Given the description of an element on the screen output the (x, y) to click on. 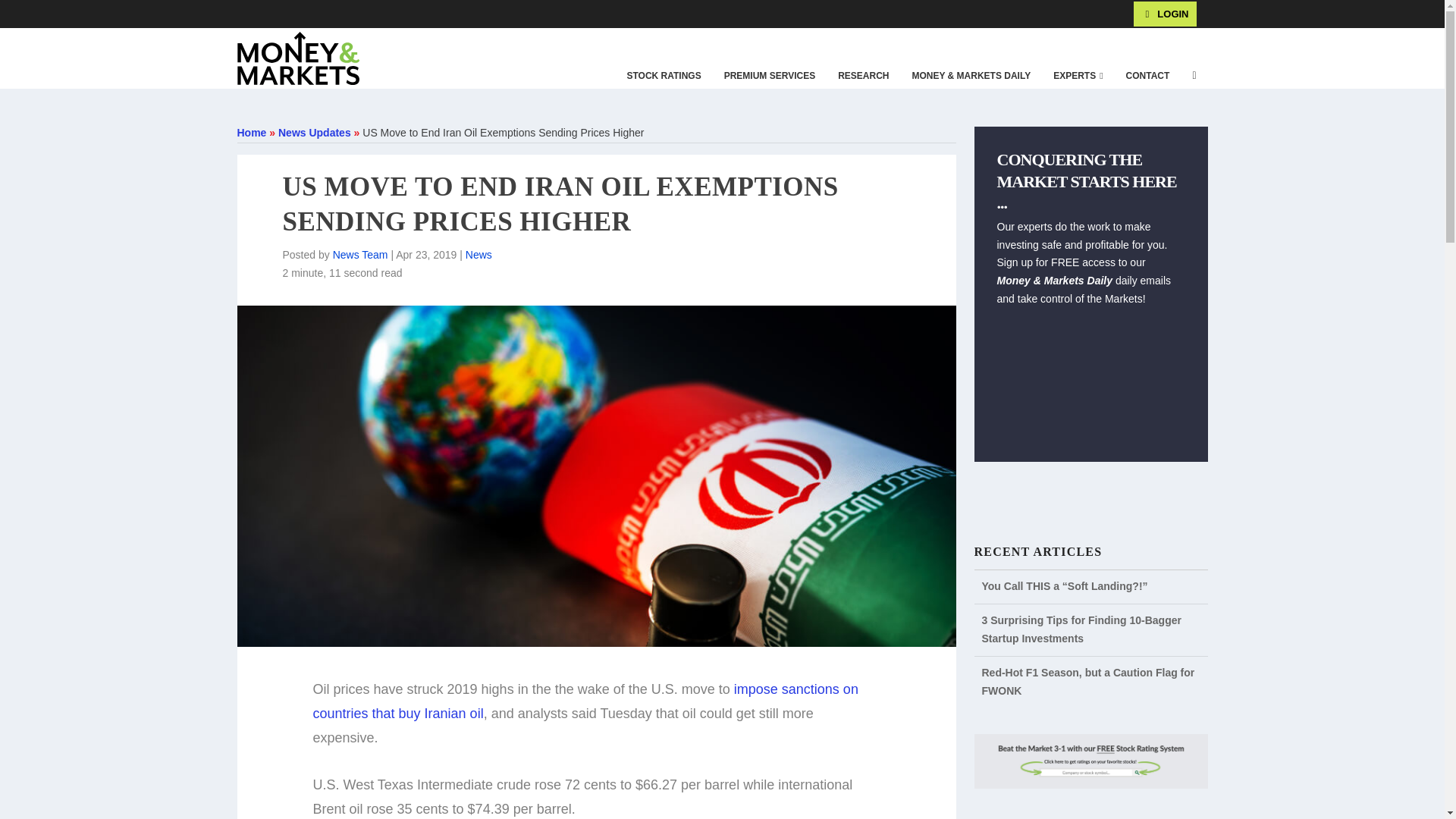
STOCK RATINGS (662, 75)
PREMIUM SERVICES (770, 75)
Posts by News Team (360, 254)
News (478, 254)
News Team (360, 254)
News Updates (314, 132)
Red-Hot F1 Season, but a Caution Flag for FWONK (1087, 681)
CONTACT (1147, 75)
Home (250, 132)
Total Wealth Fellowship (253, 13)
EXPERTS (1077, 75)
RESEARCH (863, 75)
3 Surprising Tips for Finding 10-Bagger Startup Investments (1080, 629)
Banyan Hill (173, 13)
impose sanctions on countries that buy Iranian oil (585, 701)
